Given the description of an element on the screen output the (x, y) to click on. 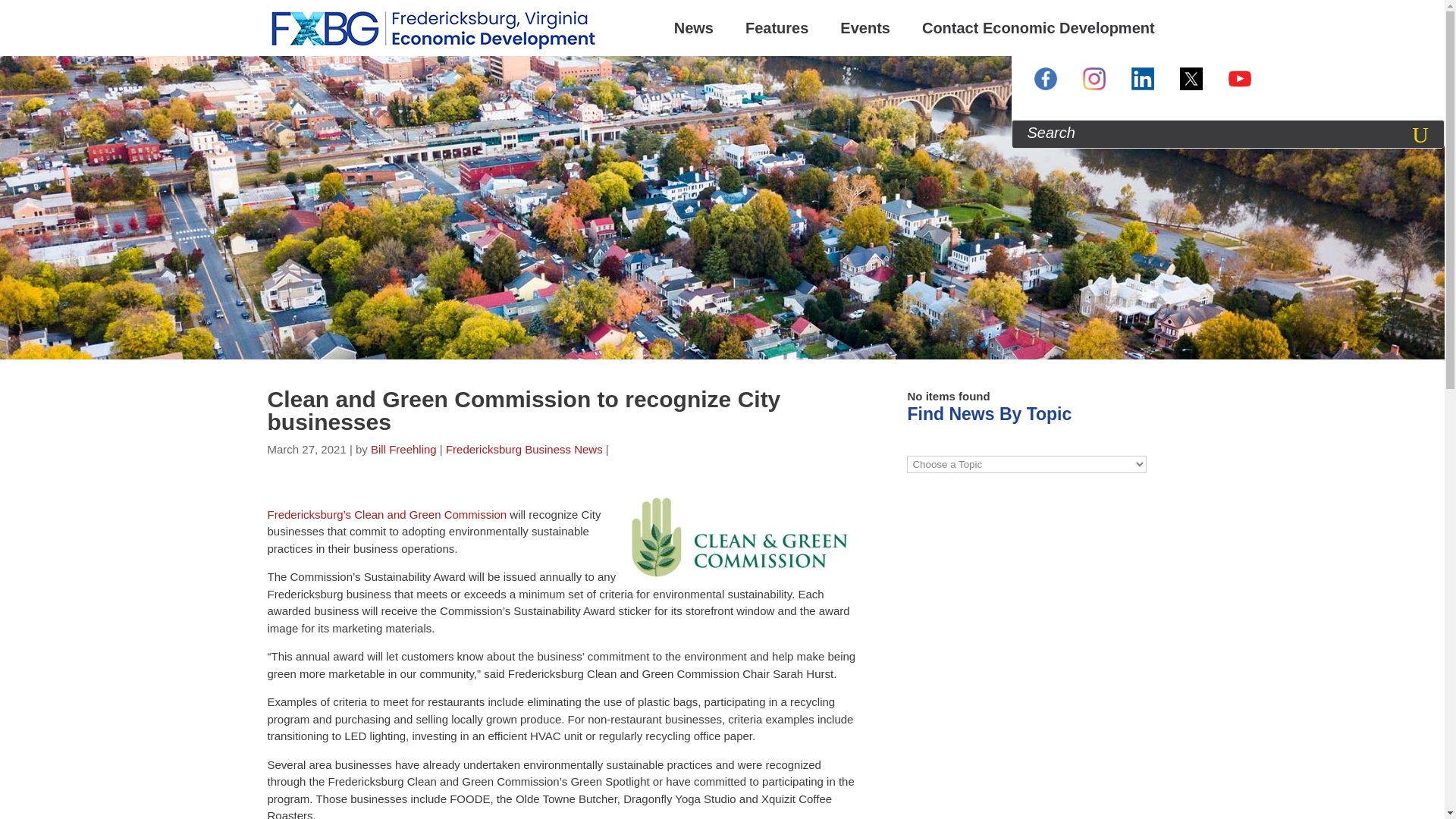
Search (1423, 134)
Events (865, 28)
News (693, 28)
Bill Freehling (403, 449)
FXBG-ED-skyline-logo (432, 28)
Contact Economic Development (1037, 28)
Search (1423, 134)
Fredericksburg Business News (523, 449)
Posts by Bill Freehling (403, 449)
Search (1423, 134)
Features (776, 28)
